Given the description of an element on the screen output the (x, y) to click on. 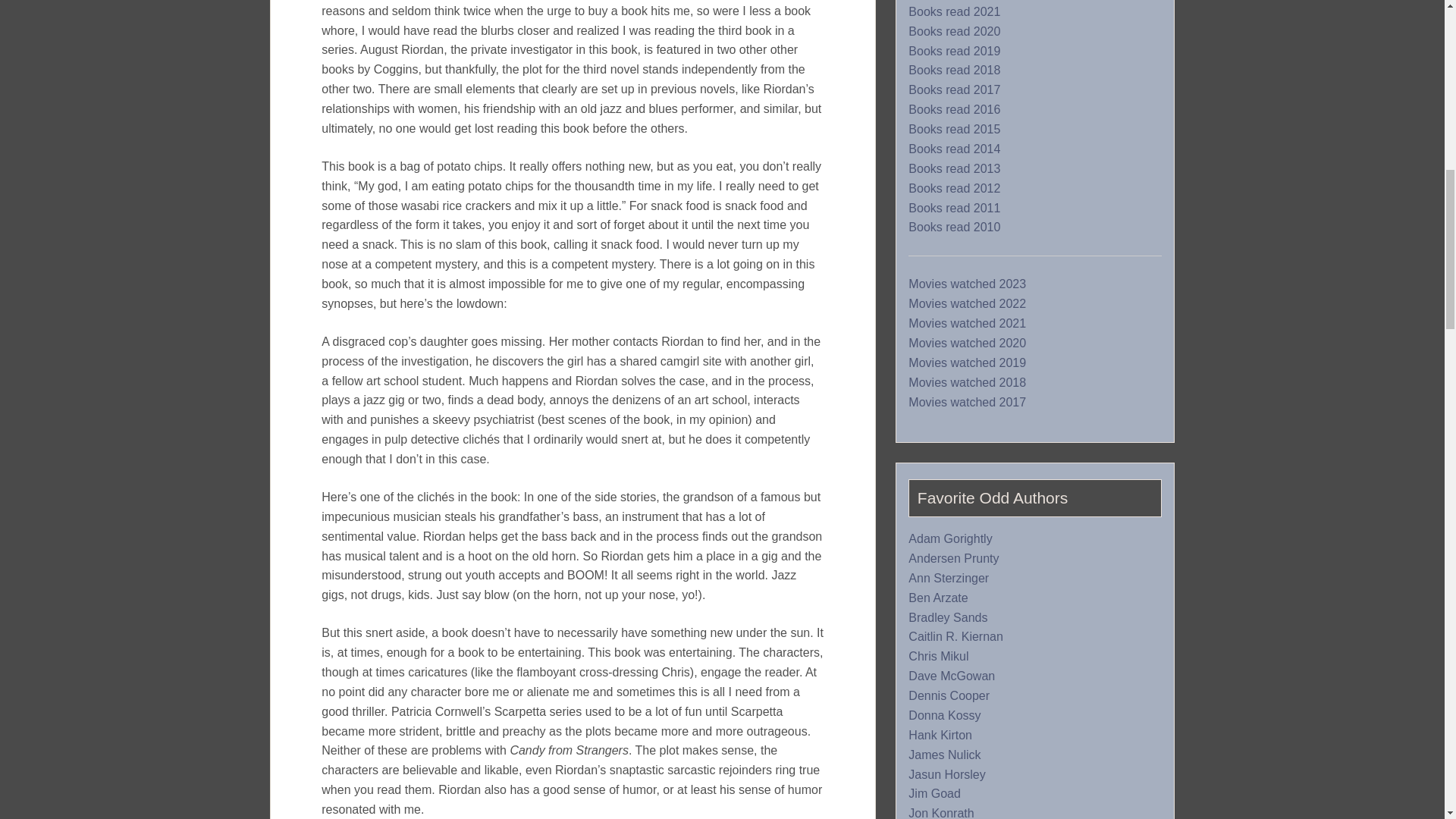
Books read 2019 (954, 51)
Books read 2017 (954, 90)
Books read 2018 (954, 69)
Books read 2020 (954, 31)
Books read 2012 (954, 188)
Books read 2021 (954, 11)
Books read 2013 (954, 169)
Books read 2015 (954, 129)
Books read 2011 (954, 208)
Books read 2014 (954, 149)
